Given the description of an element on the screen output the (x, y) to click on. 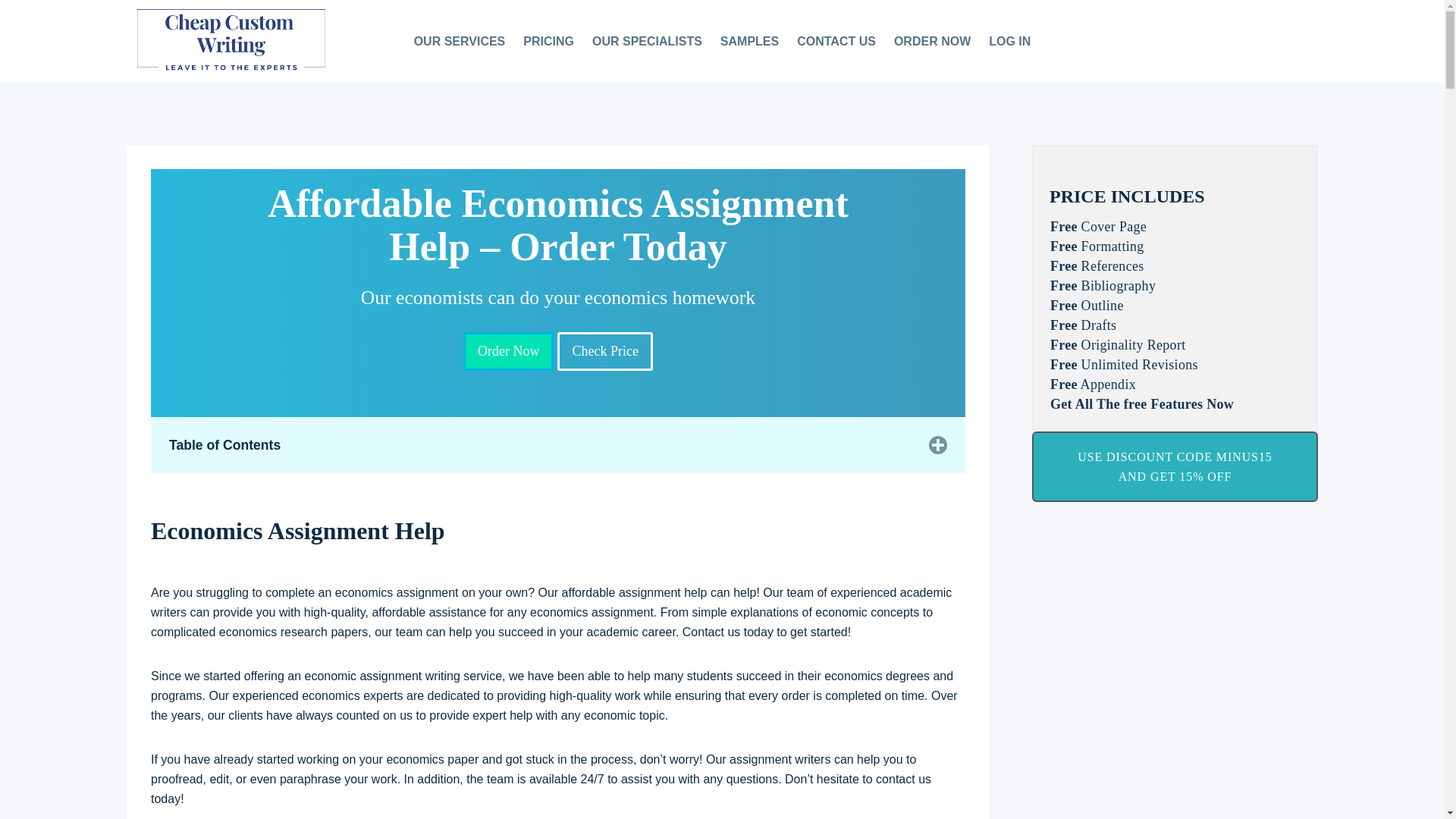
SAMPLES (749, 41)
PRICING (548, 41)
Order Now (508, 351)
LOG IN (1009, 41)
OUR SPECIALISTS (647, 41)
ORDER NOW (932, 41)
CONTACT US (836, 41)
Check Price (604, 351)
OUR SERVICES (459, 41)
